Given the description of an element on the screen output the (x, y) to click on. 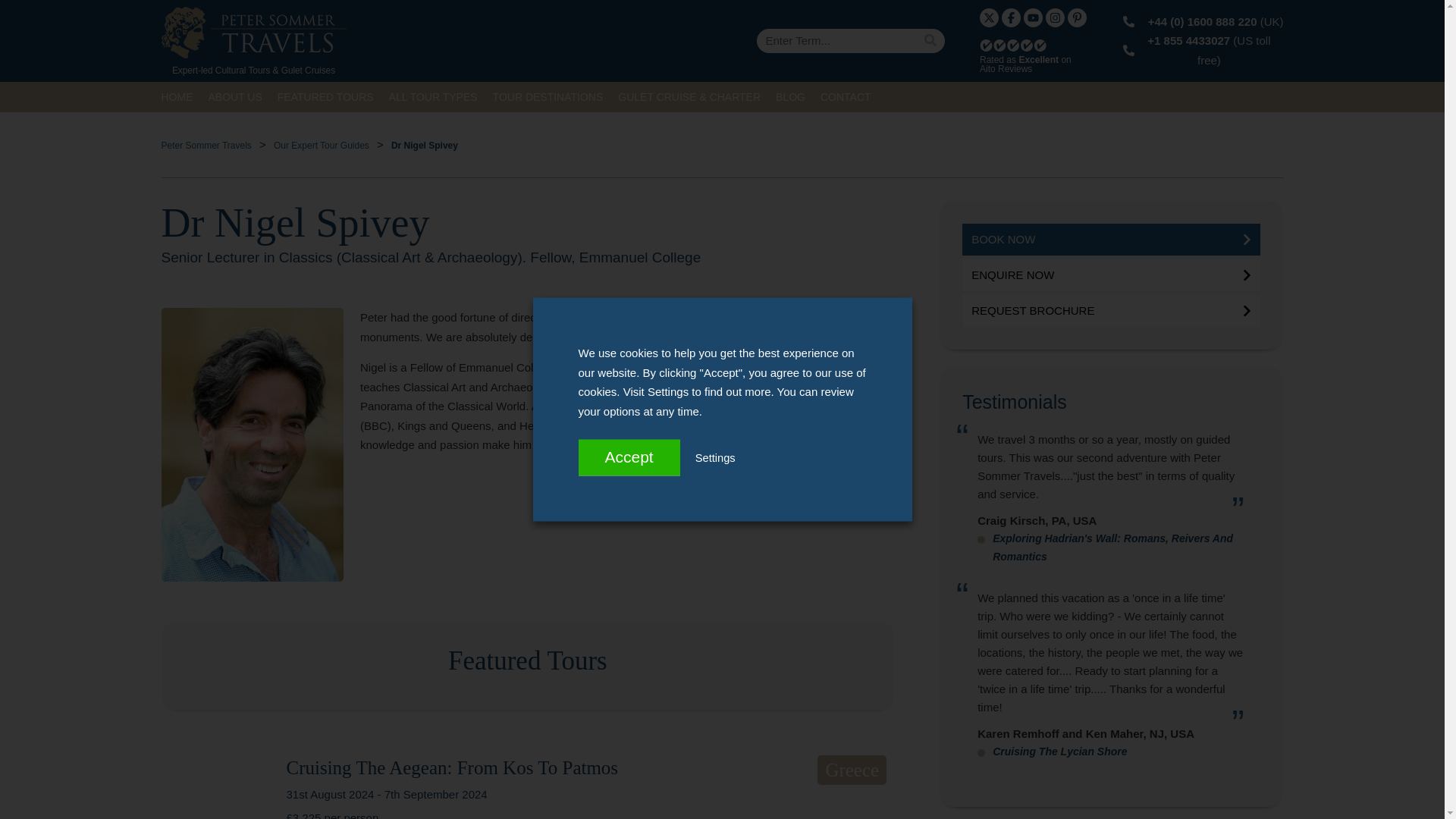
Join in the conversation with Peter Sommer Travels on X (988, 17)
Peter Sommer Travels logo (253, 32)
Cruising the Aegean: From Kos to Patmos (211, 787)
Follow Peter Sommer Travels on Facebook (1010, 17)
Travel videos from Peter Sommer Travels on You Tube (1032, 17)
